Given the description of an element on the screen output the (x, y) to click on. 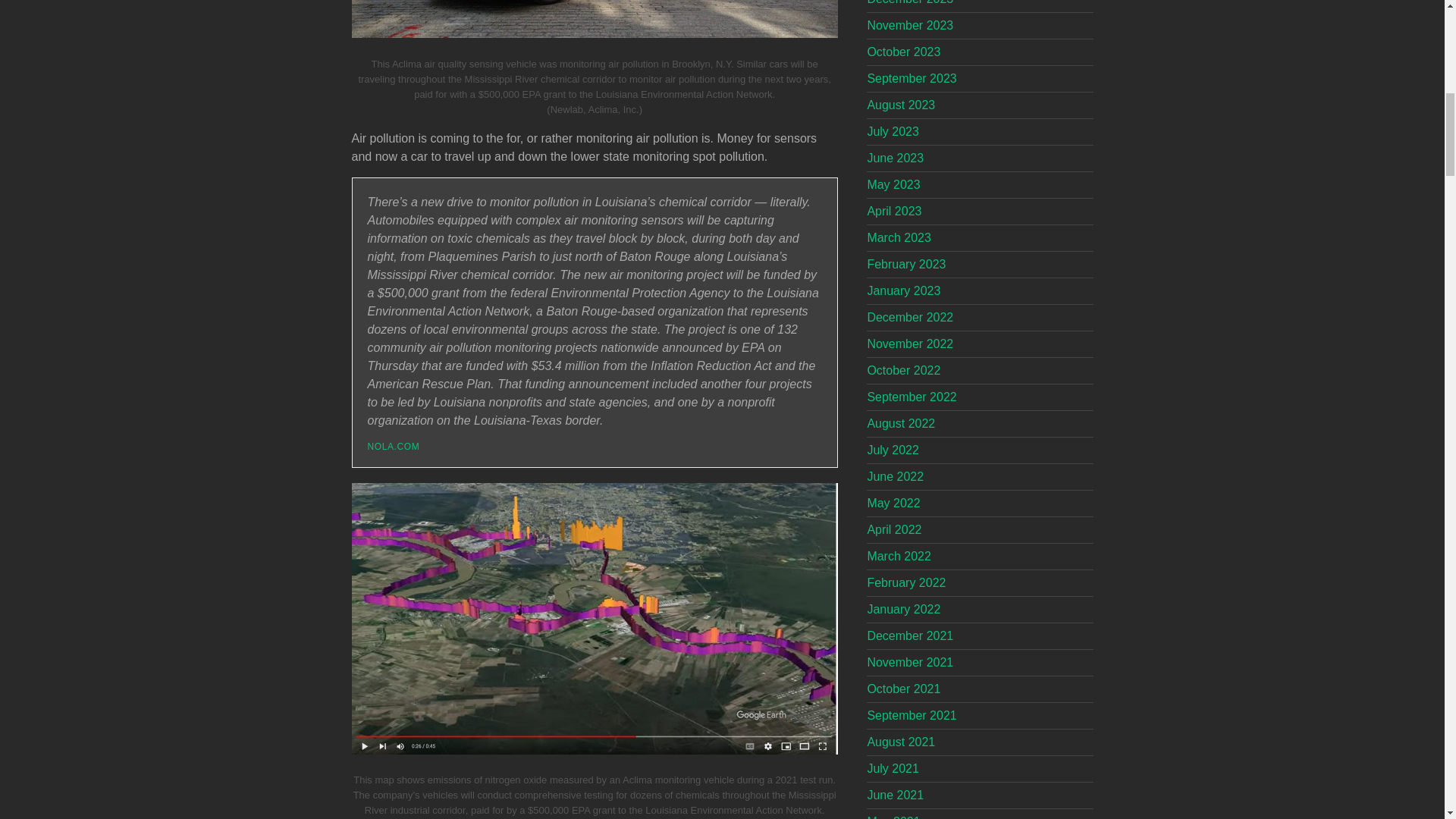
NOLA.COM (392, 446)
